Given the description of an element on the screen output the (x, y) to click on. 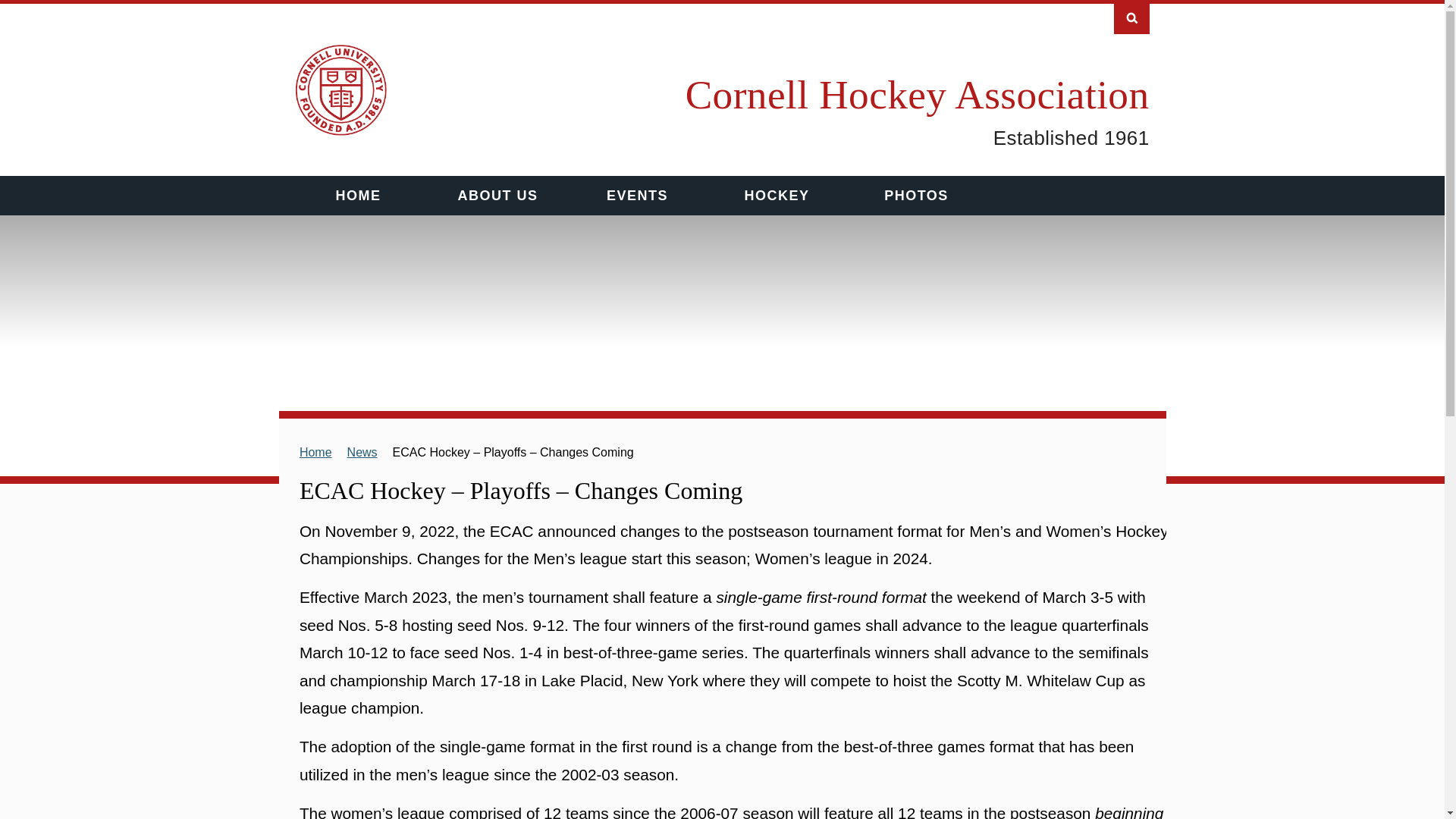
Search This Site (1130, 17)
Search This Site (1130, 17)
Cornell University (341, 90)
